Given the description of an element on the screen output the (x, y) to click on. 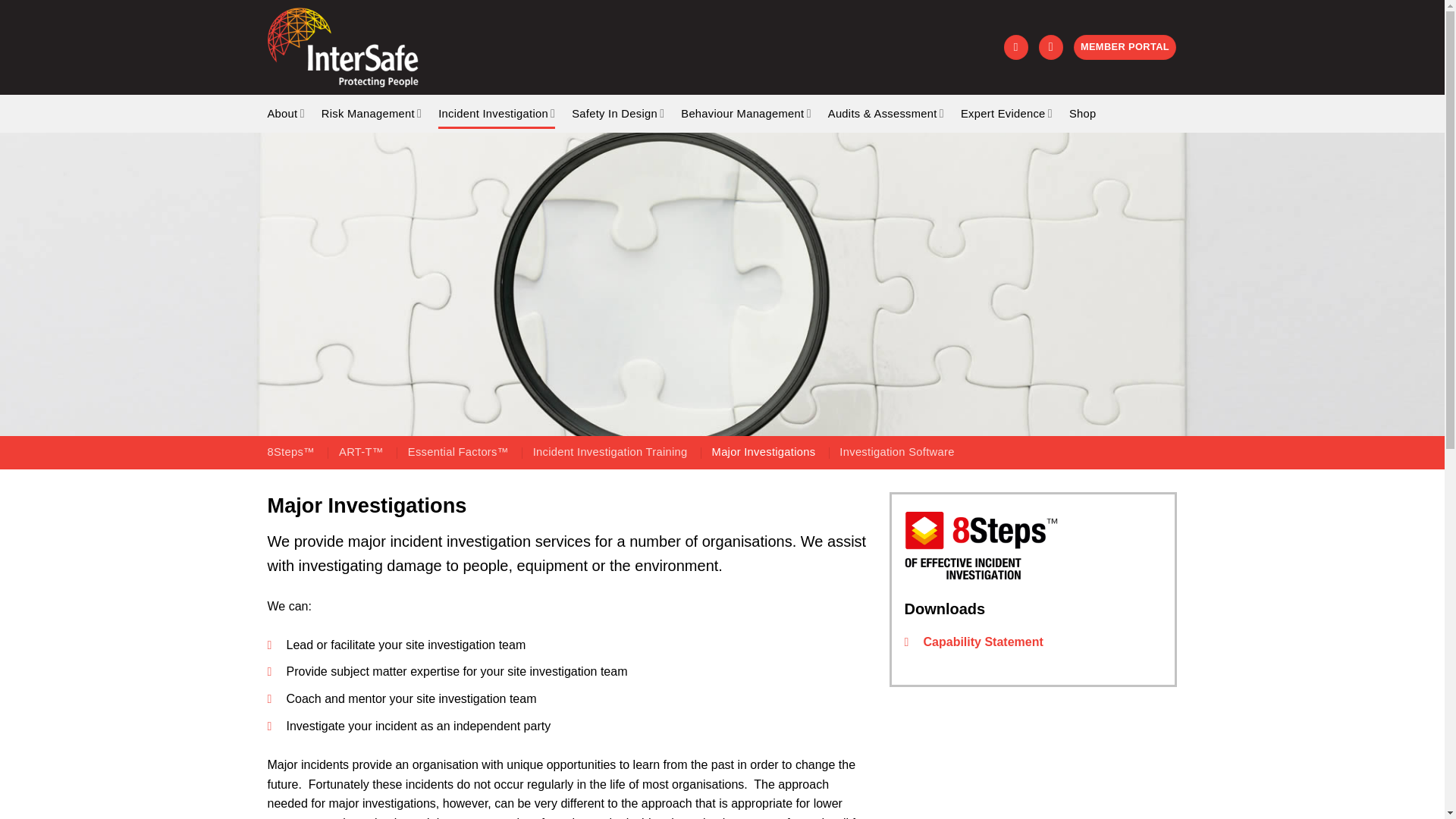
Incident Investigation (496, 112)
MEMBER PORTAL (1125, 47)
InterSafe - Safety Consulting (355, 47)
Member Portal (1125, 47)
Risk Management (371, 112)
Cart (1015, 47)
Behaviour Management (745, 112)
Safety In Design (617, 112)
About (285, 112)
